Given the description of an element on the screen output the (x, y) to click on. 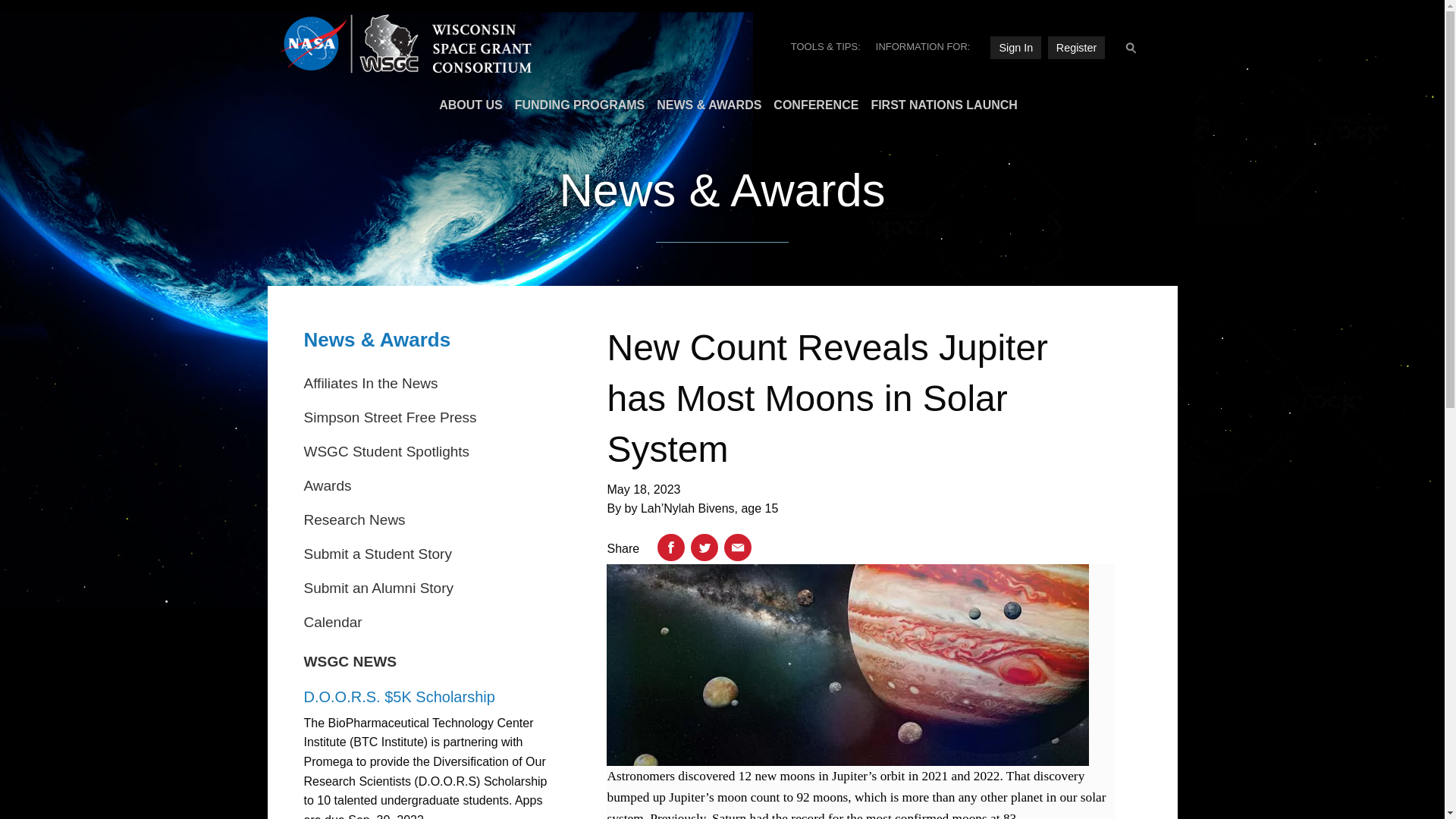
Register (1076, 47)
Jupiter Moons (847, 664)
Sign In (1015, 47)
INFORMATION FOR: (922, 46)
ABOUT US (464, 104)
